Given the description of an element on the screen output the (x, y) to click on. 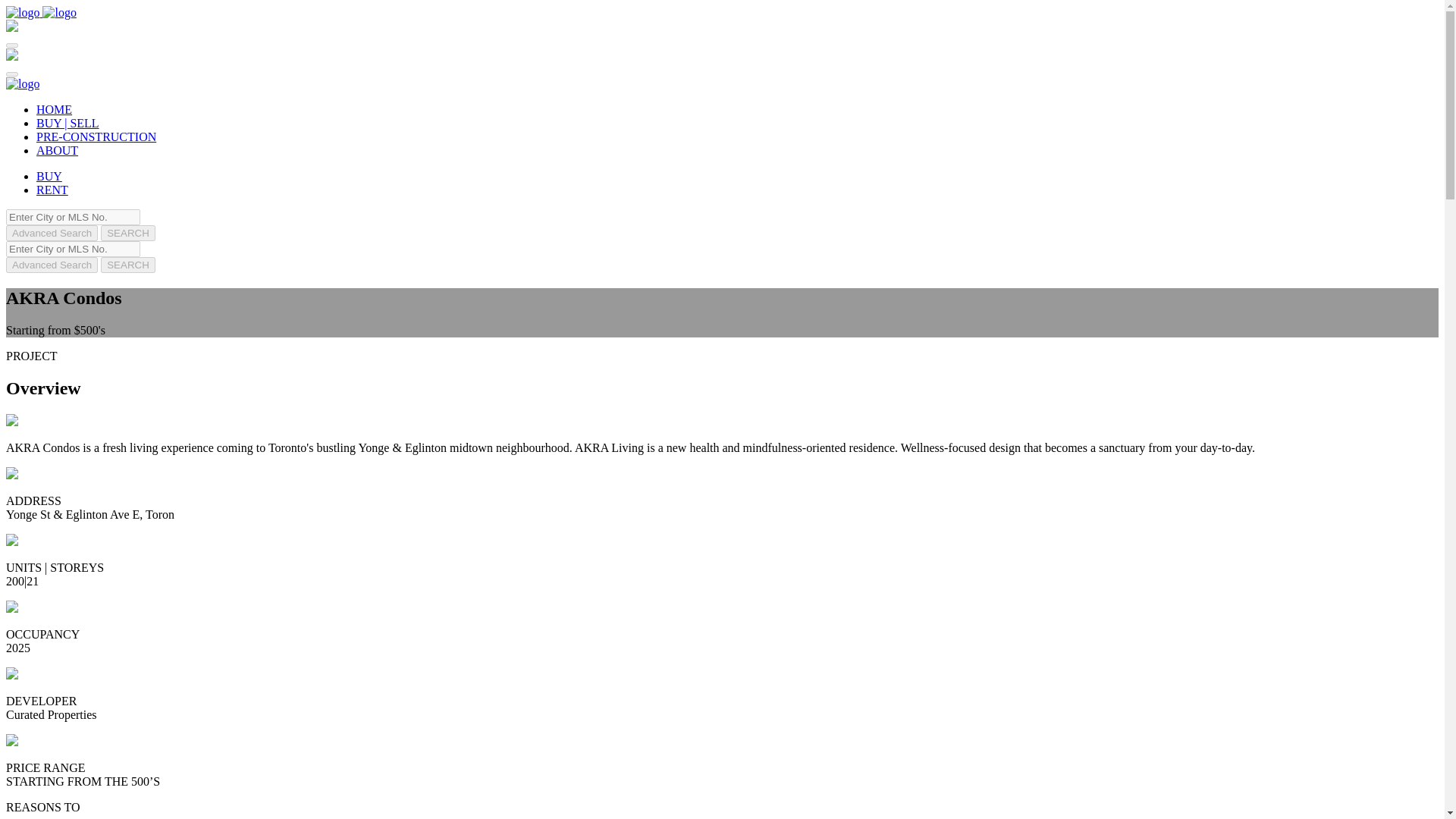
PRE-CONSTRUCTION (95, 136)
SEARCH (127, 264)
RENT (52, 189)
ABOUT (57, 150)
SEARCH (127, 264)
SEARCH (127, 232)
Advanced Search (51, 264)
SEARCH (127, 232)
HOME (53, 109)
BUY (49, 175)
Advanced Search (51, 232)
